Given the description of an element on the screen output the (x, y) to click on. 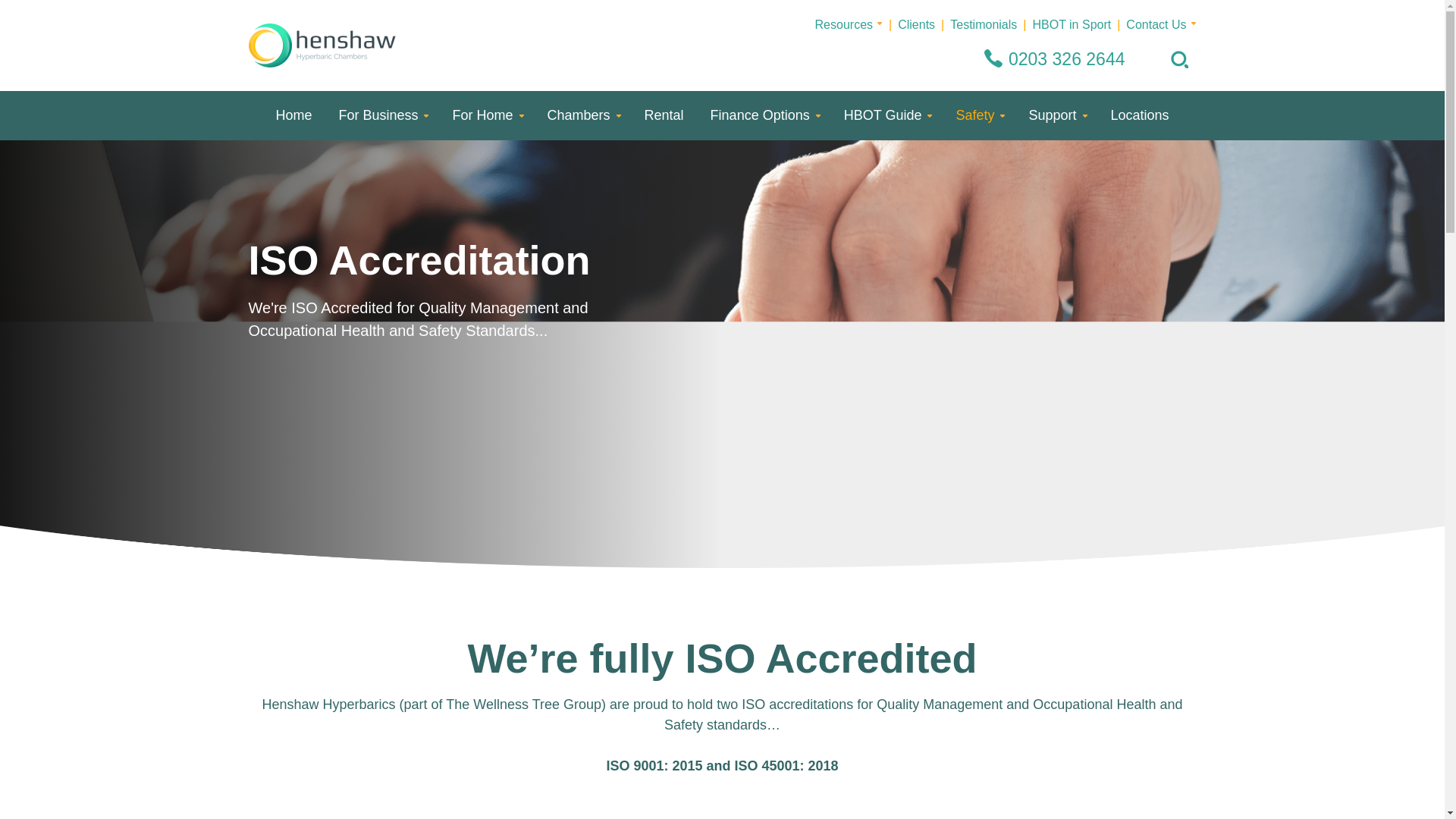
Chambers (581, 115)
For Business (381, 115)
For Home (486, 115)
Testimonials (983, 26)
0203 326 2644 (1067, 58)
Home (293, 115)
HBOT in Sport (1071, 26)
Resources (843, 26)
Clients (916, 26)
Contact Us (1155, 26)
